Given the description of an element on the screen output the (x, y) to click on. 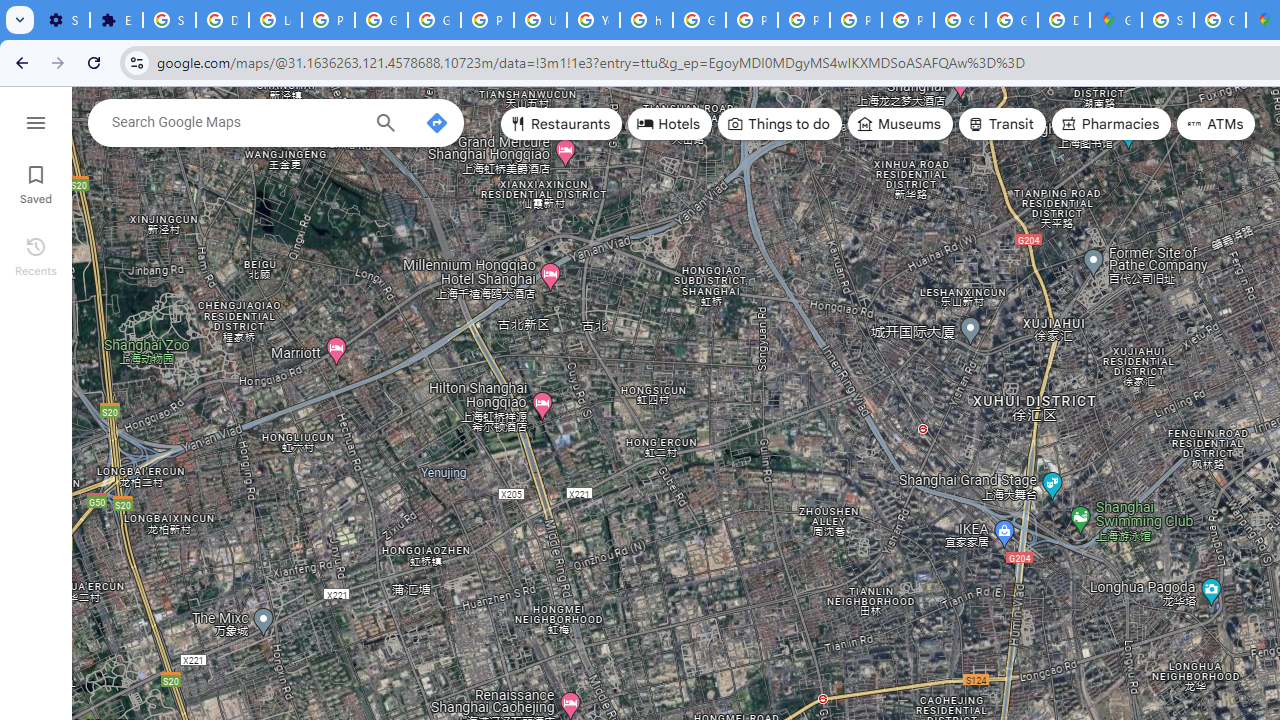
Menu (35, 120)
Recents (35, 254)
YouTube (593, 20)
Google Maps (1115, 20)
Pharmacies (1111, 124)
